Given the description of an element on the screen output the (x, y) to click on. 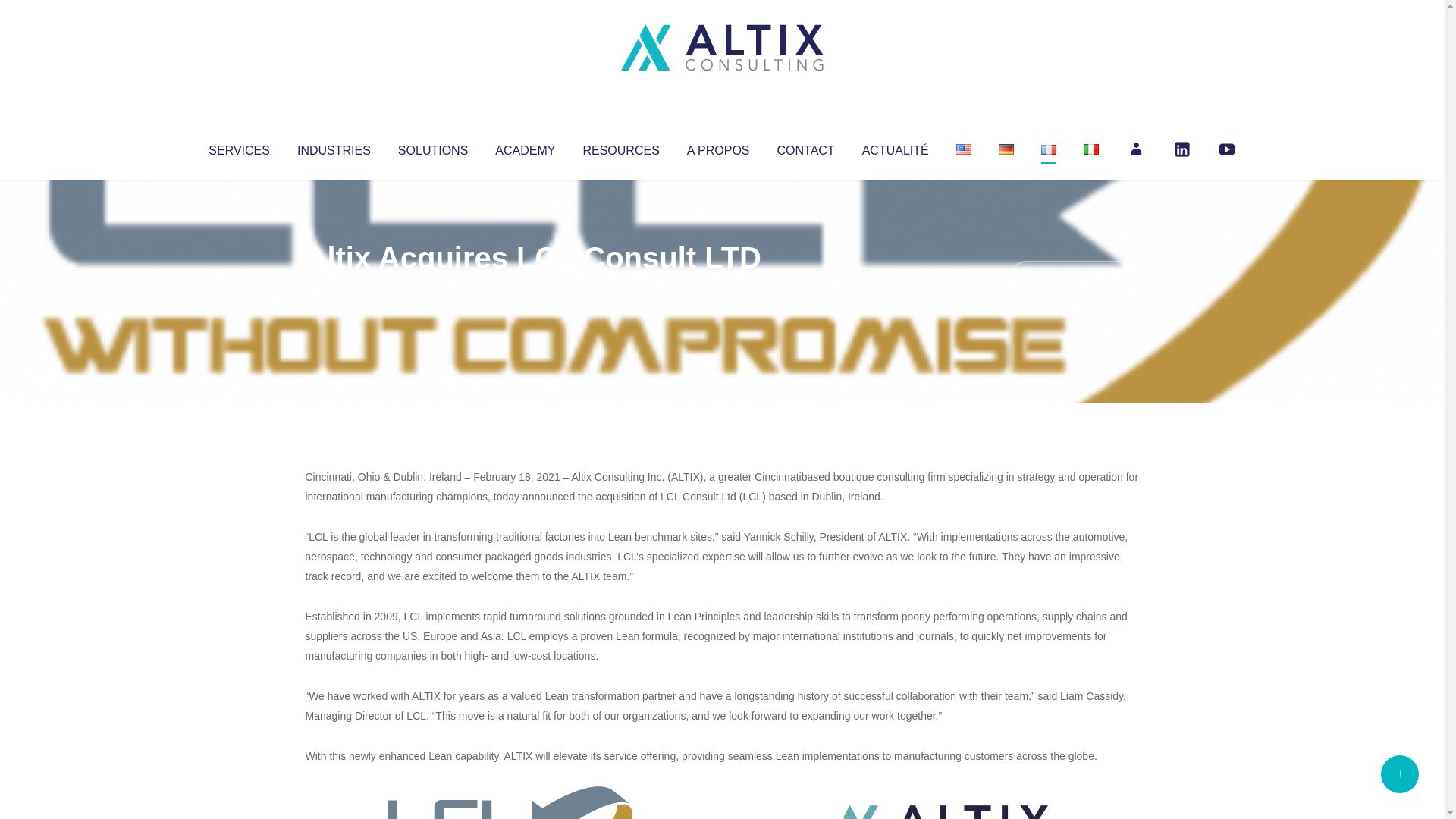
RESOURCES (620, 146)
No Comments (1073, 278)
SERVICES (238, 146)
ACADEMY (524, 146)
Altix (333, 287)
Articles par Altix (333, 287)
INDUSTRIES (334, 146)
SOLUTIONS (432, 146)
A PROPOS (718, 146)
Uncategorized (530, 287)
